Given the description of an element on the screen output the (x, y) to click on. 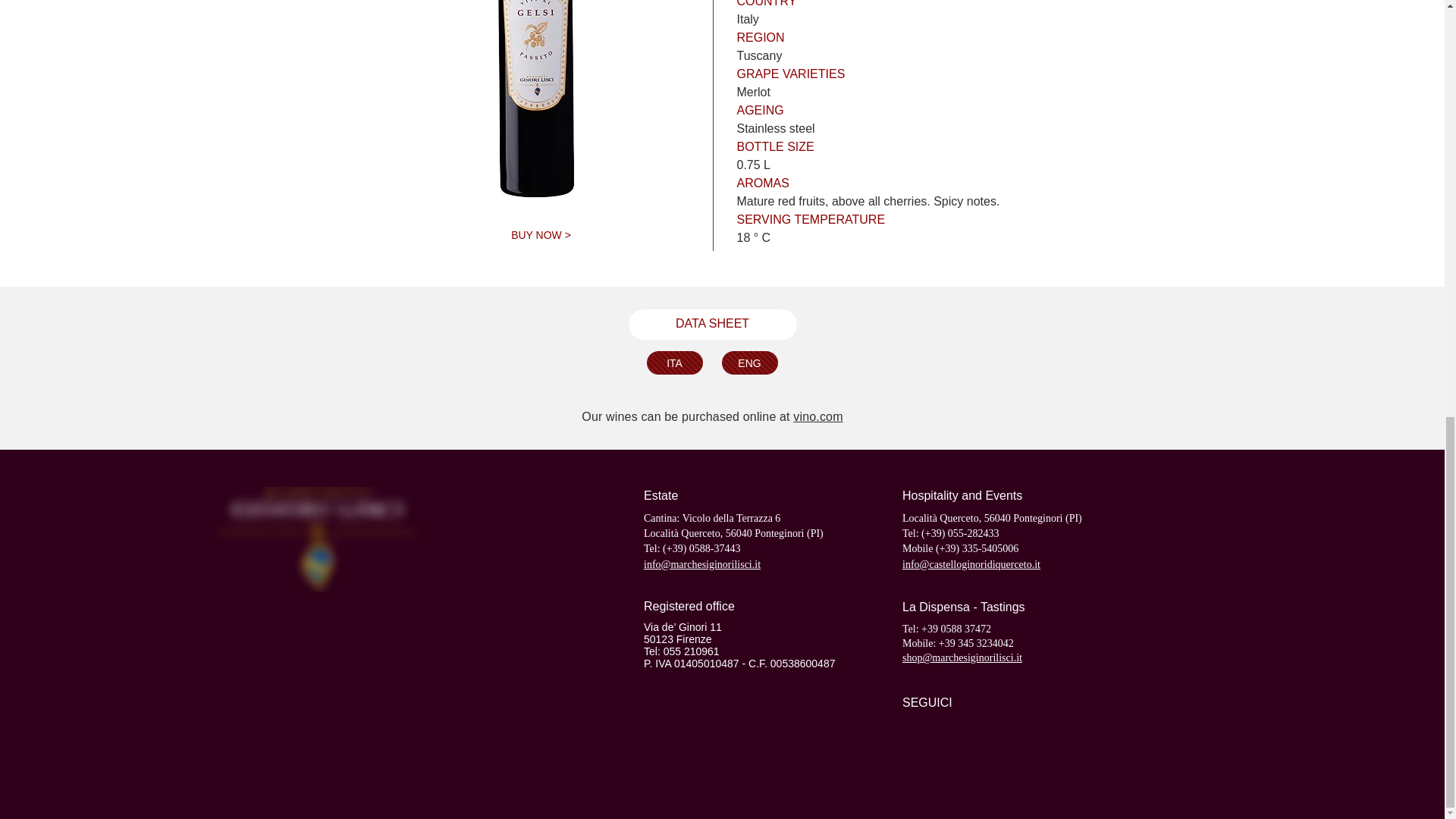
ITA (673, 362)
ENG (749, 362)
